Given the description of an element on the screen output the (x, y) to click on. 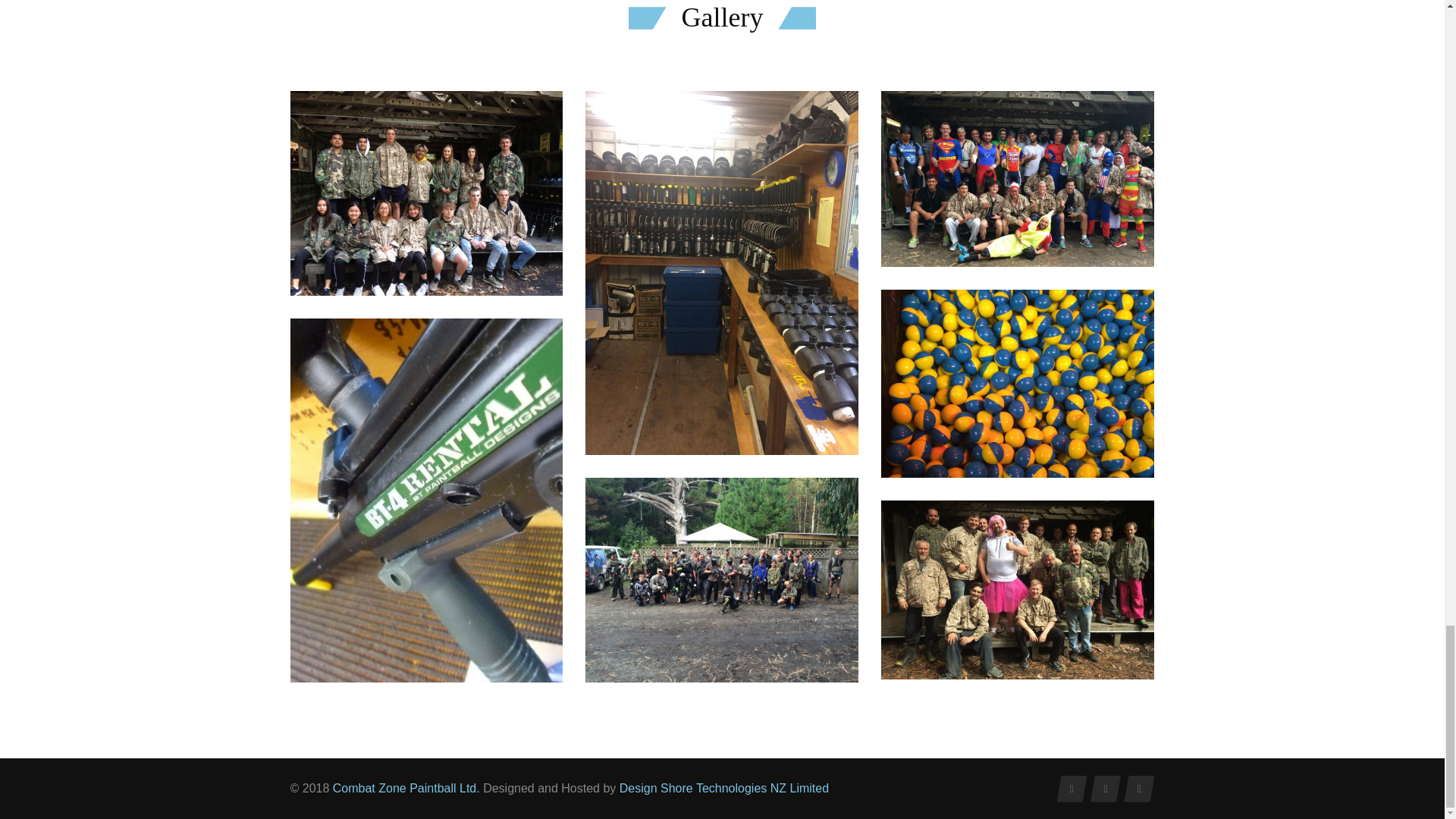
Combat Zone Paintball Ltd. (408, 788)
Design Shore Technologies NZ Limited (724, 788)
